Given the description of an element on the screen output the (x, y) to click on. 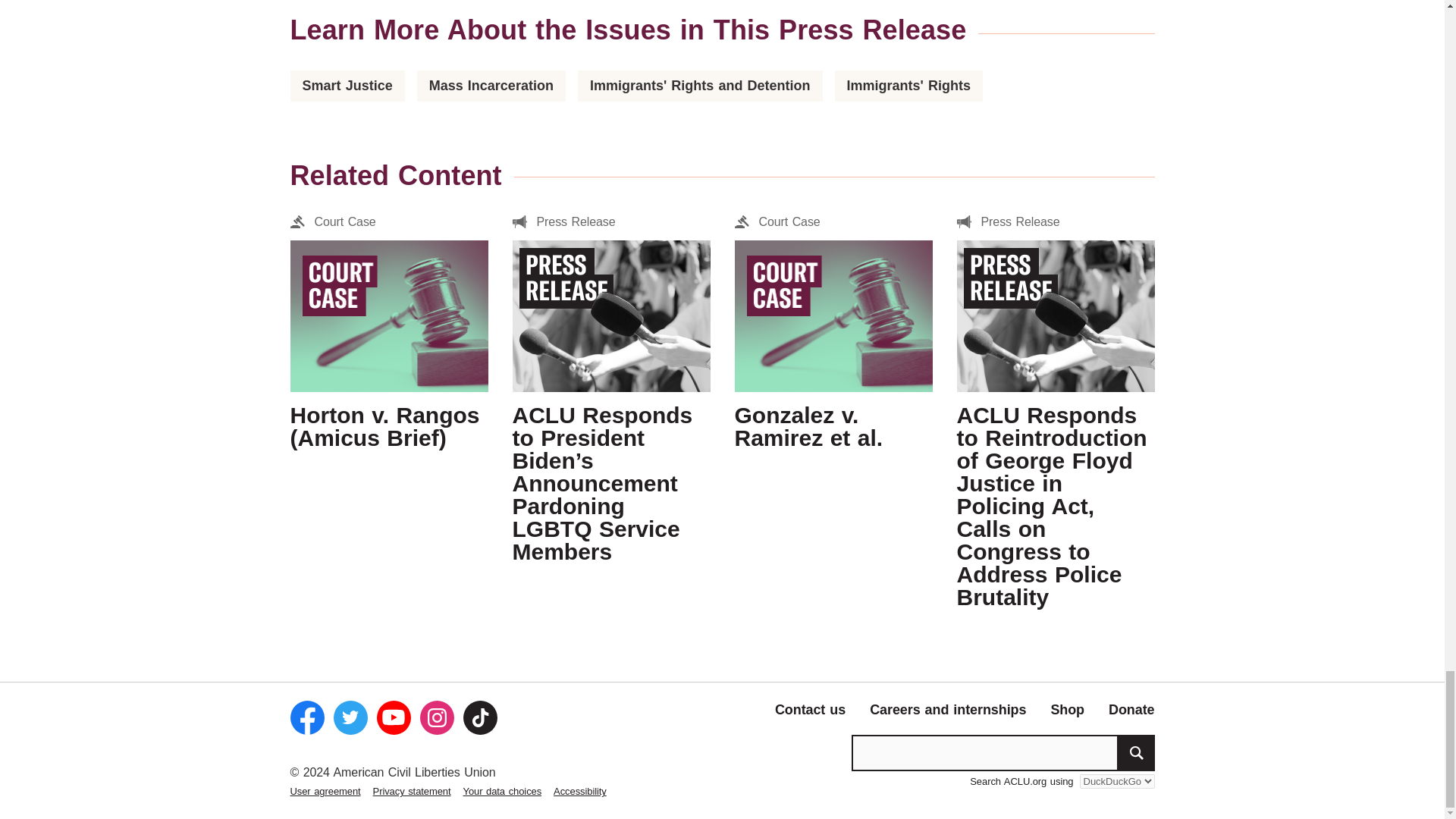
Follow the ACLU on TikTok (479, 717)
search (1136, 752)
Follow the ACLU on Instagram (437, 717)
Follow the ACLU on Twitter (350, 717)
Follow the ACLU on Facebook (306, 717)
Follow the ACLU on YouTube (392, 717)
